Given the description of an element on the screen output the (x, y) to click on. 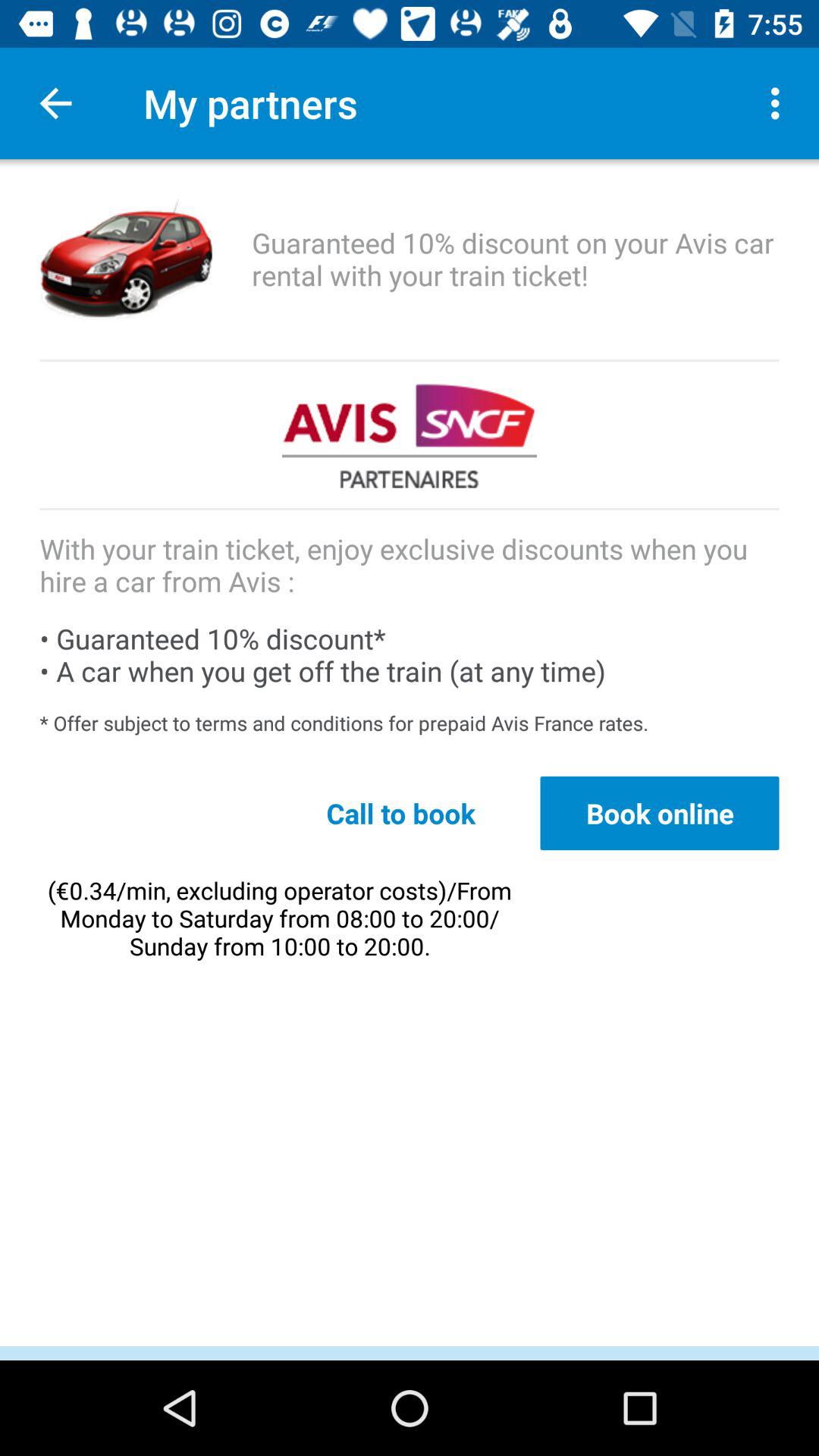
click item to the left of the book online (400, 813)
